Given the description of an element on the screen output the (x, y) to click on. 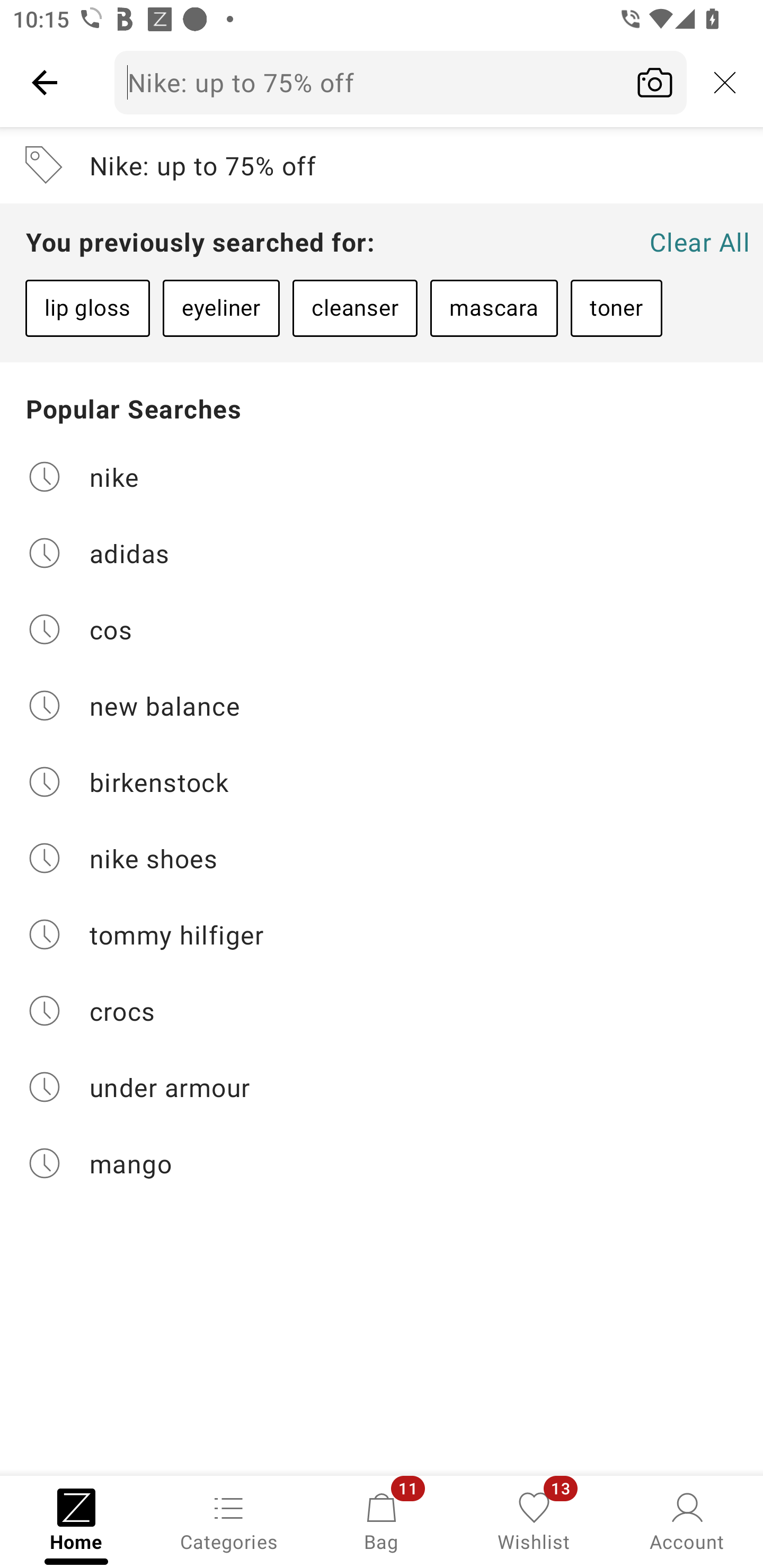
Navigate up (44, 82)
Nike: up to 75% off (400, 82)
Nike: up to 75% off (381, 165)
Clear All (699, 241)
lip gloss (87, 308)
eyeliner (221, 308)
cleanser (354, 308)
mascara (493, 308)
toner (616, 308)
nike (381, 476)
adidas (381, 552)
cos (381, 629)
new balance (381, 705)
birkenstock (381, 781)
nike shoes (381, 858)
tommy hilfiger (381, 934)
crocs (381, 1010)
under armour (381, 1086)
mango (381, 1163)
Categories (228, 1519)
Bag, 11 new notifications Bag (381, 1519)
Wishlist, 13 new notifications Wishlist (533, 1519)
Account (686, 1519)
